Given the description of an element on the screen output the (x, y) to click on. 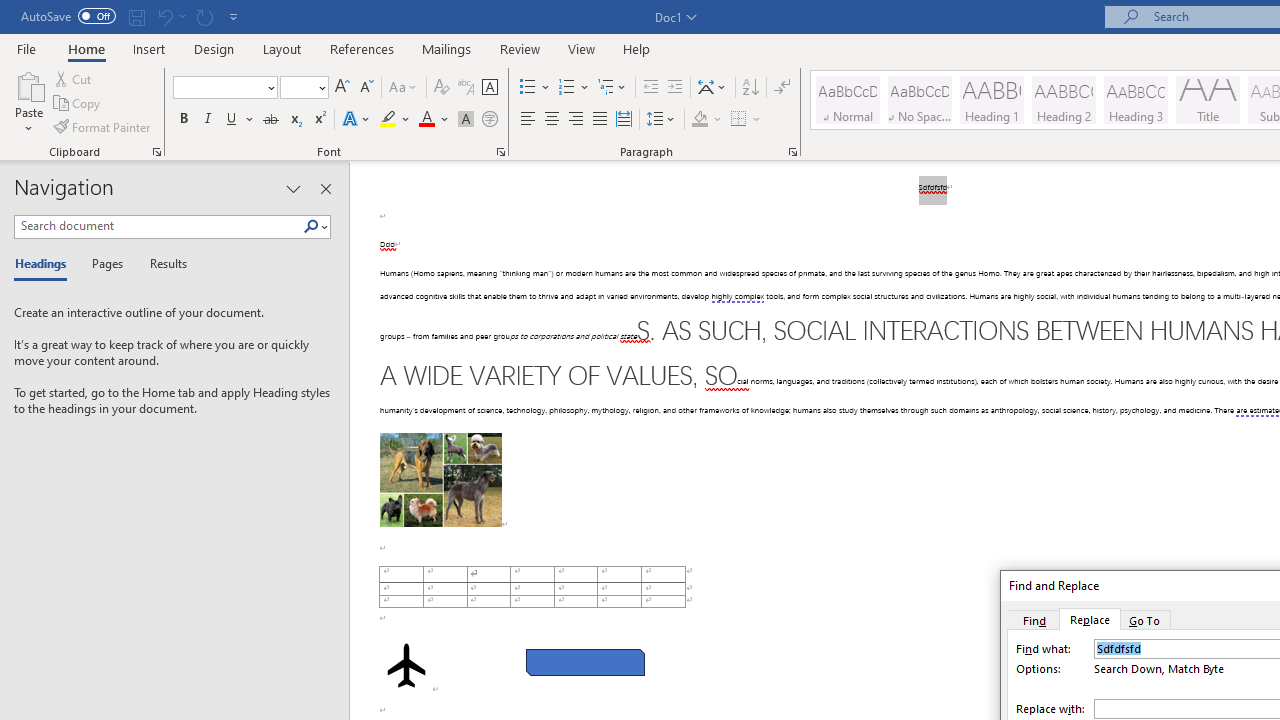
Shading RGB(0, 0, 0) (699, 119)
Repeat Paragraph Alignment (204, 15)
Line and Paragraph Spacing (661, 119)
Undo Paragraph Alignment (164, 15)
Decrease Indent (650, 87)
Justify (599, 119)
Text Highlight Color (395, 119)
Font Color (434, 119)
Distributed (623, 119)
Font... (500, 151)
